Given the description of an element on the screen output the (x, y) to click on. 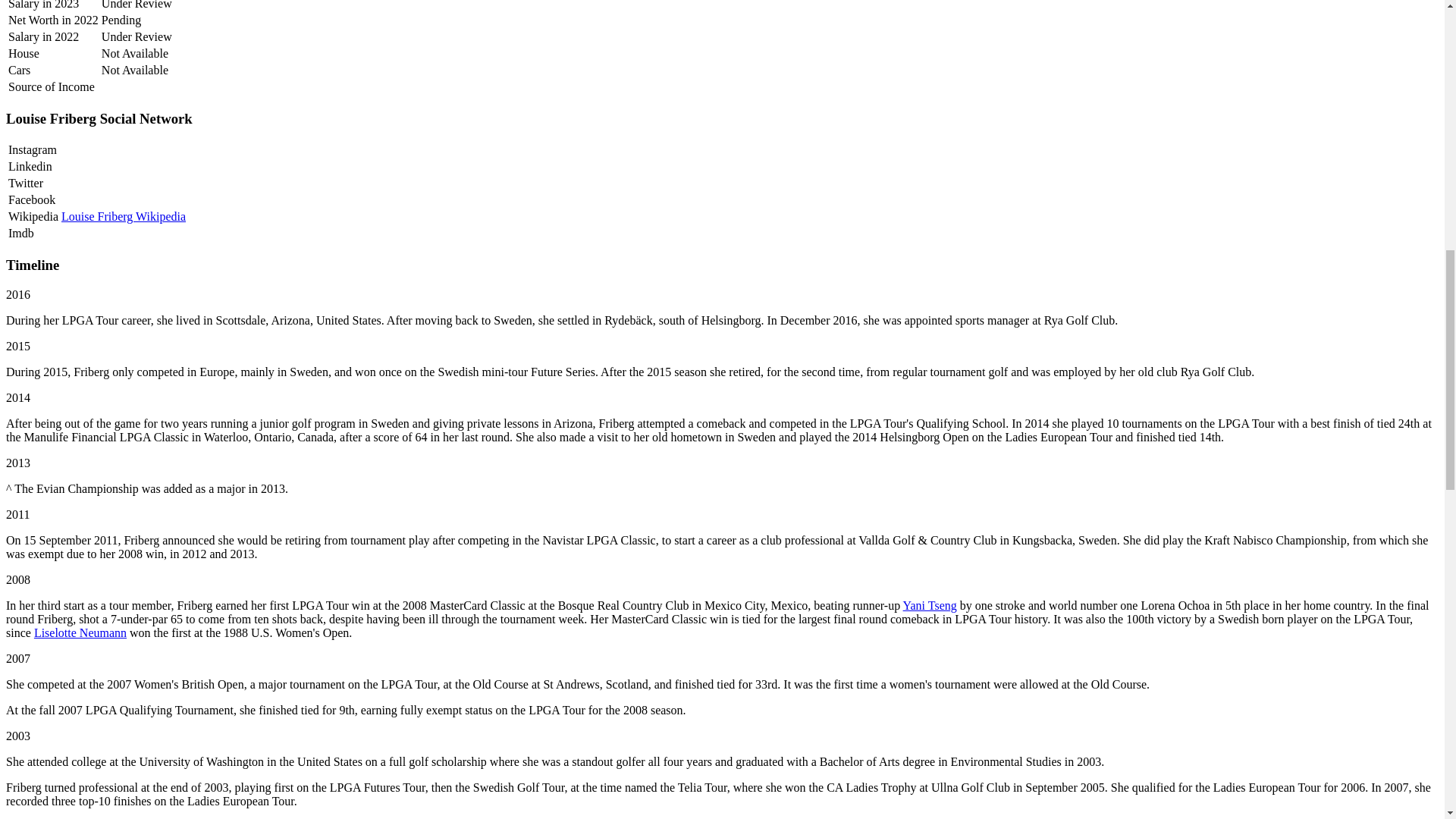
Louise Friberg Wikipedia (123, 215)
Yani Tseng (929, 604)
Liselotte Neumann (79, 632)
